Given the description of an element on the screen output the (x, y) to click on. 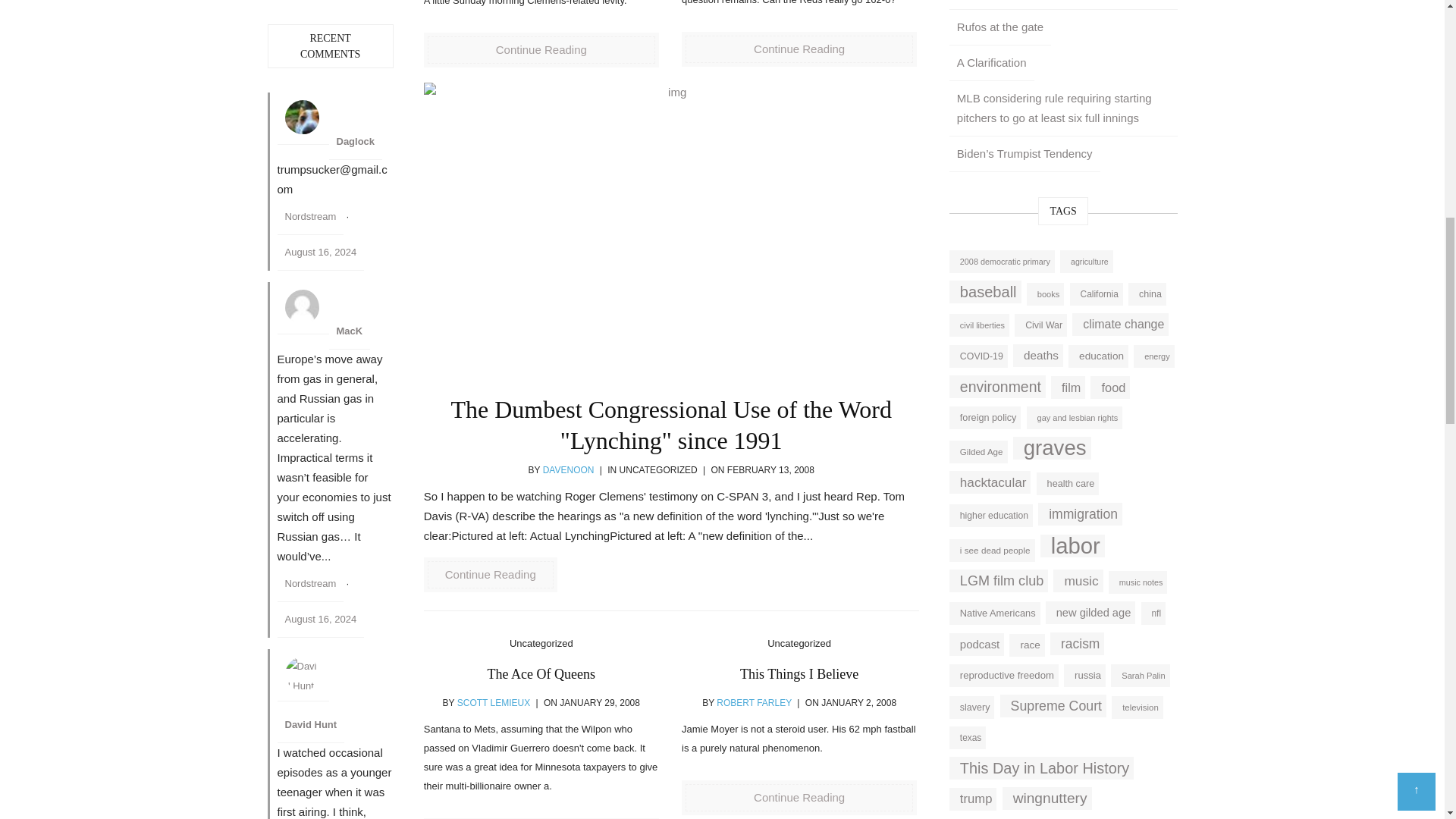
Posts by Scott Lemieux (493, 702)
Posts by davenoon (568, 470)
Posts by Robert Farley (754, 702)
